Given the description of an element on the screen output the (x, y) to click on. 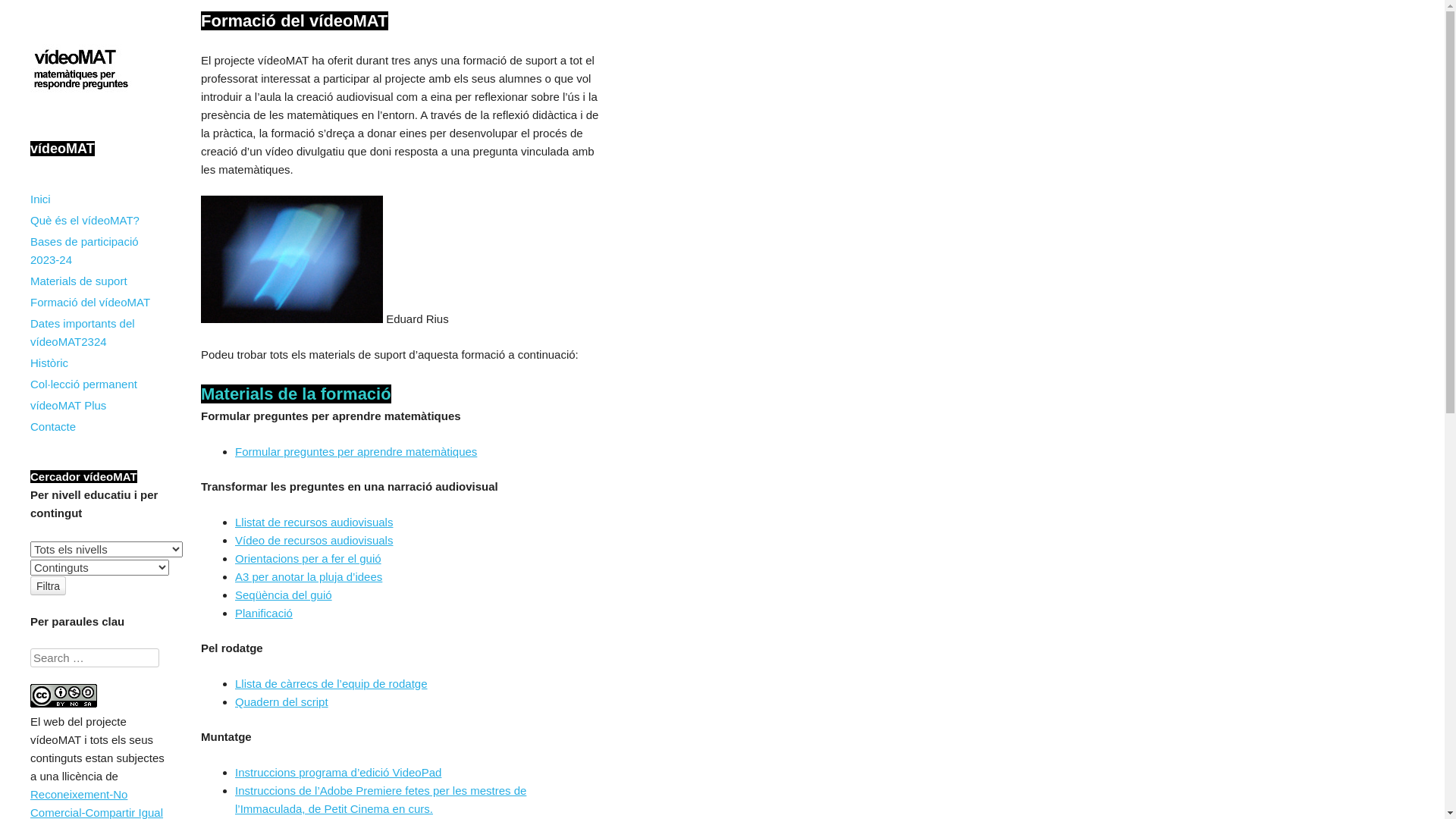
Eduard Rius Element type: hover (291, 259)
Materials de suport Element type: text (98, 280)
Contacte Element type: text (98, 426)
Inici Element type: text (98, 199)
Filtra Element type: text (47, 585)
Skip to content Element type: text (67, 199)
Search Element type: text (22, 9)
Llistat de recursos audiovisuals Element type: text (313, 521)
Quadern del script Element type: text (281, 701)
